Given the description of an element on the screen output the (x, y) to click on. 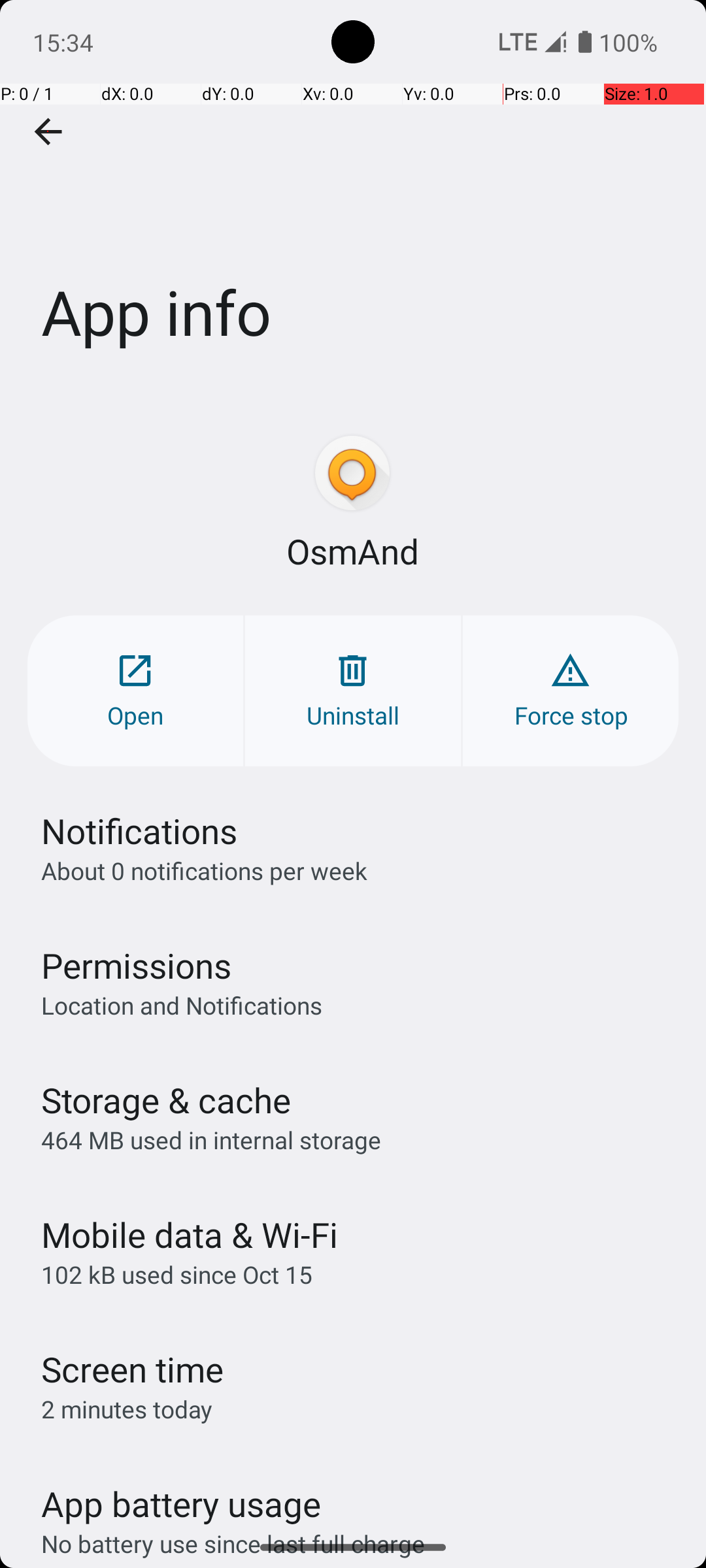
About 0 notifications per week Element type: android.widget.TextView (204, 870)
Location and Notifications Element type: android.widget.TextView (181, 1004)
464 MB used in internal storage Element type: android.widget.TextView (211, 1139)
102 kB used since Oct 15 Element type: android.widget.TextView (176, 1273)
2 minutes today Element type: android.widget.TextView (127, 1408)
